Given the description of an element on the screen output the (x, y) to click on. 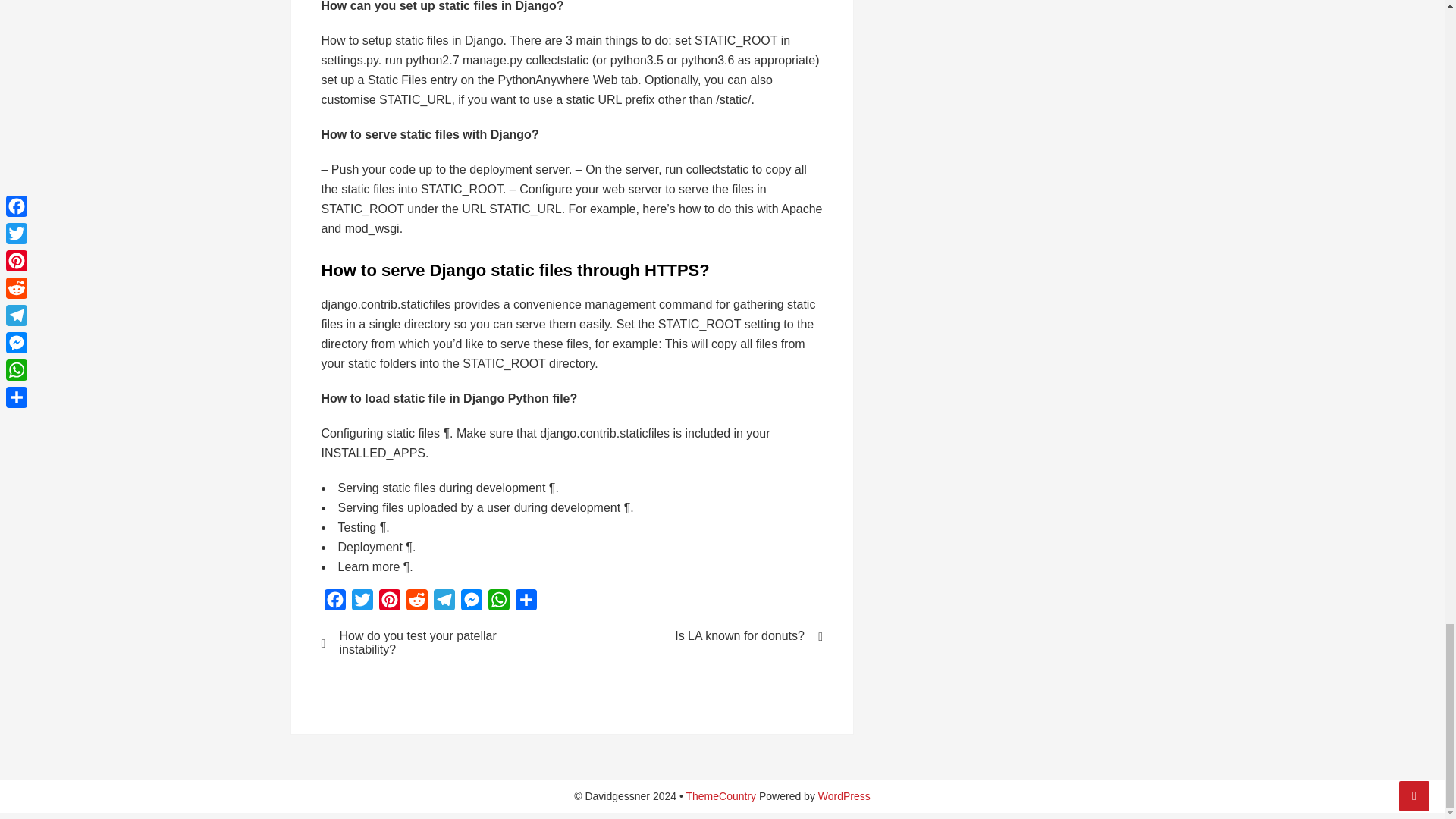
Is LA known for donuts? (707, 635)
Facebook (335, 602)
Facebook (335, 602)
Pinterest (389, 602)
Messenger (471, 602)
BasePress - The best free WordPress blog theme for WordPress (720, 796)
Messenger (471, 602)
Reddit (416, 602)
Pinterest (389, 602)
Twitter (362, 602)
Telegram (444, 602)
WhatsApp (498, 602)
WhatsApp (498, 602)
Telegram (444, 602)
How do you test your patellar instability? (436, 642)
